Given the description of an element on the screen output the (x, y) to click on. 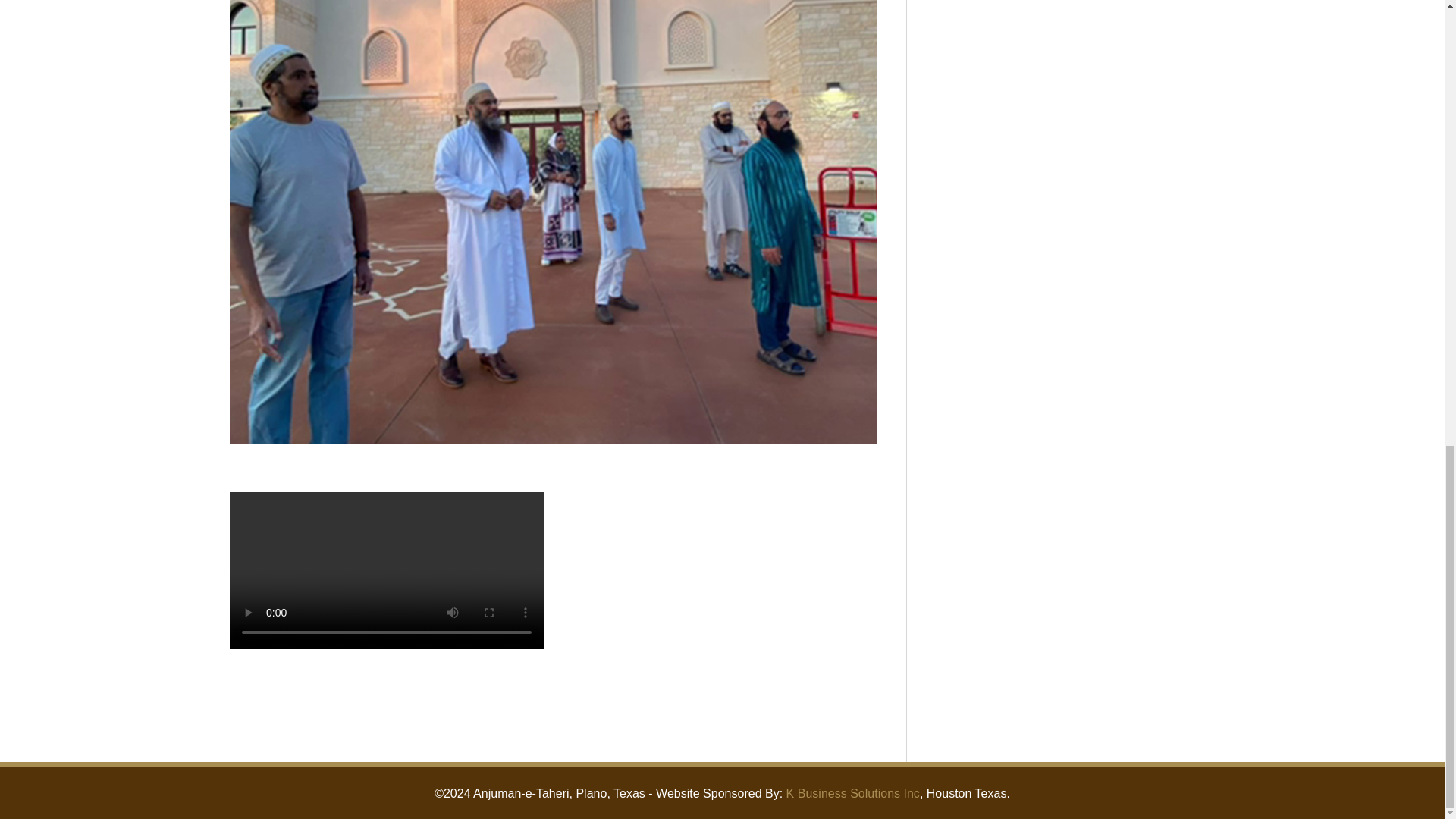
K Business Solutions Inc (853, 793)
